Given the description of an element on the screen output the (x, y) to click on. 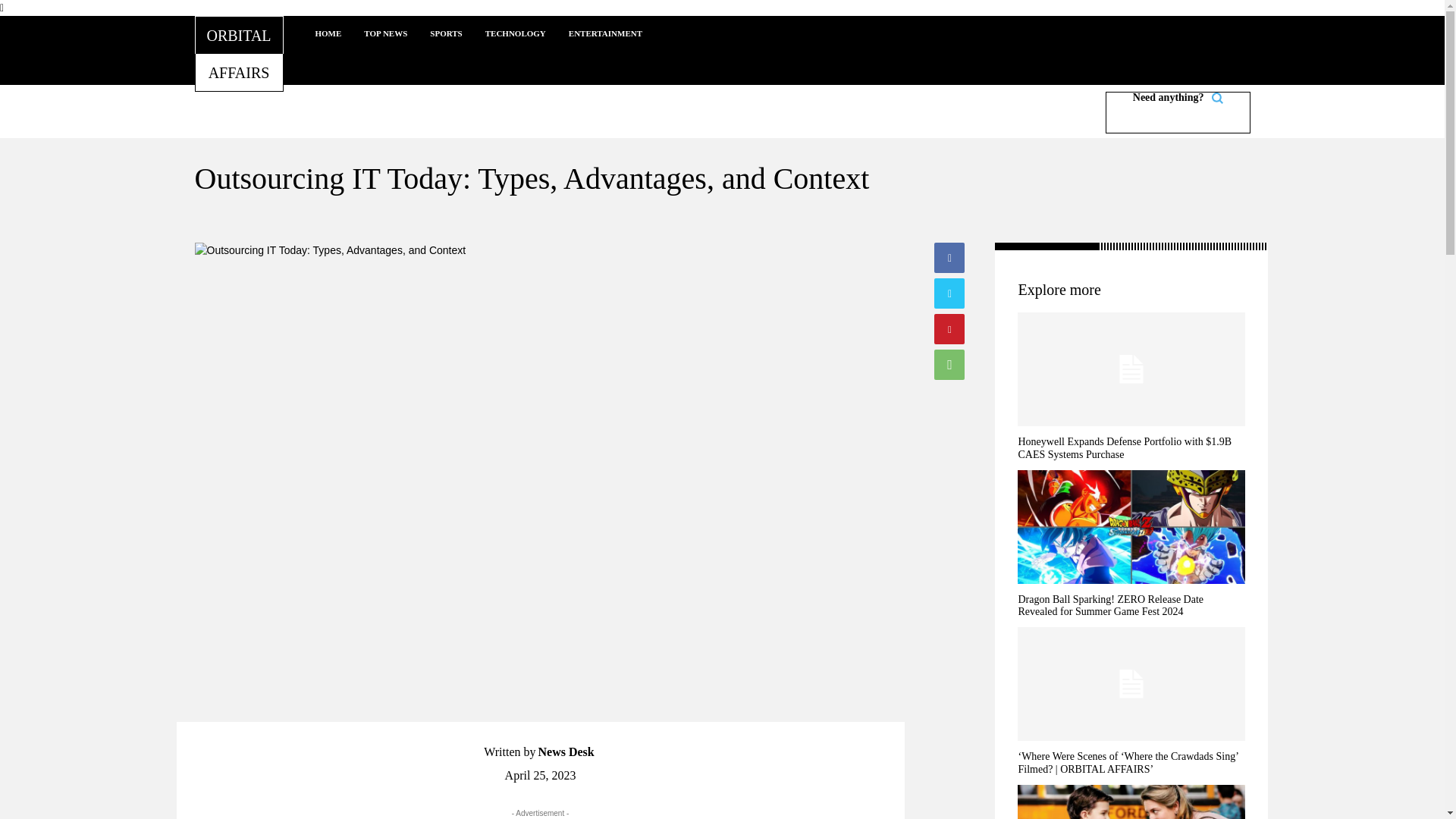
WhatsApp (948, 364)
Twitter (948, 293)
Facebook (948, 257)
Pinterest (948, 328)
TOP NEWS (385, 33)
HOME (327, 33)
TECHNOLOGY (515, 33)
SPORTS (229, 53)
ENTERTAINMENT (446, 33)
Need anything? (605, 33)
News Desk (1177, 112)
Need anything? (566, 751)
